Given the description of an element on the screen output the (x, y) to click on. 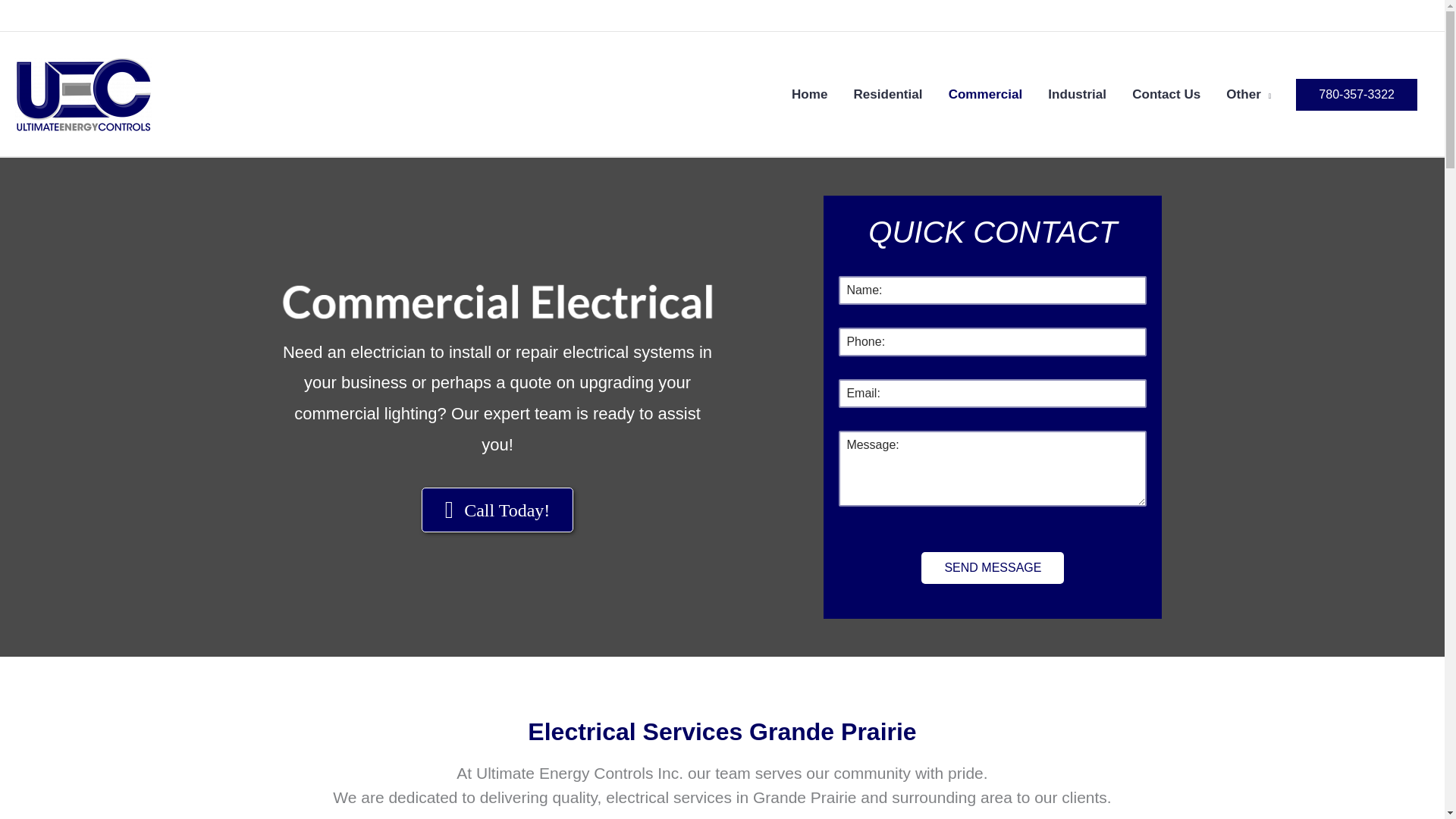
Click Here (497, 509)
Commercial (985, 94)
Commercial Electrical Title (497, 301)
Contact Us (1165, 94)
780-357-3322 (1355, 94)
Other (1248, 94)
Home (809, 94)
Industrial (1077, 94)
Call Today! (497, 509)
Residential (887, 94)
